Given the description of an element on the screen output the (x, y) to click on. 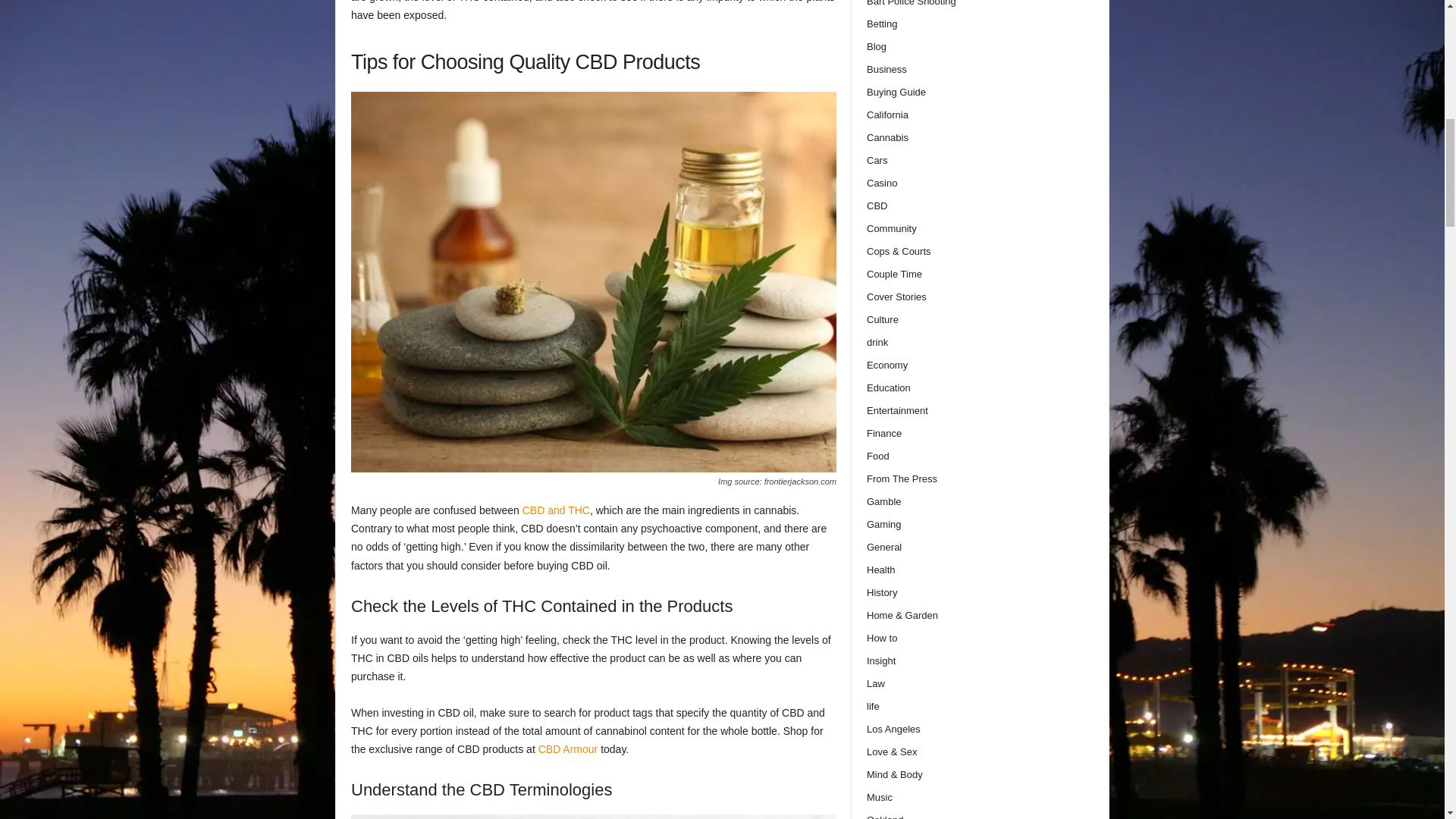
CBD and THC (555, 510)
CBD Armour (568, 748)
